Given the description of an element on the screen output the (x, y) to click on. 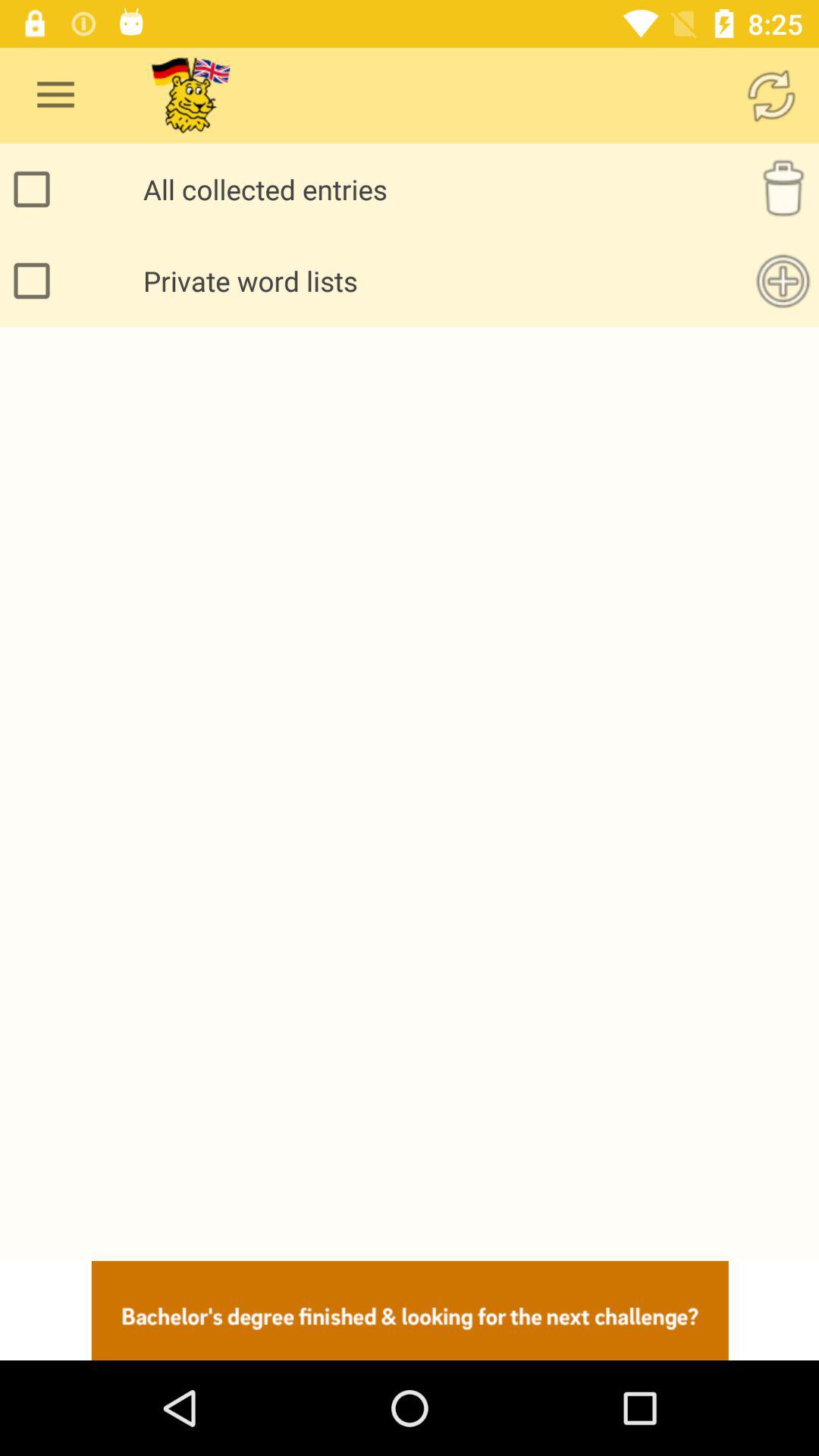
all collected entries (35, 189)
